Given the description of an element on the screen output the (x, y) to click on. 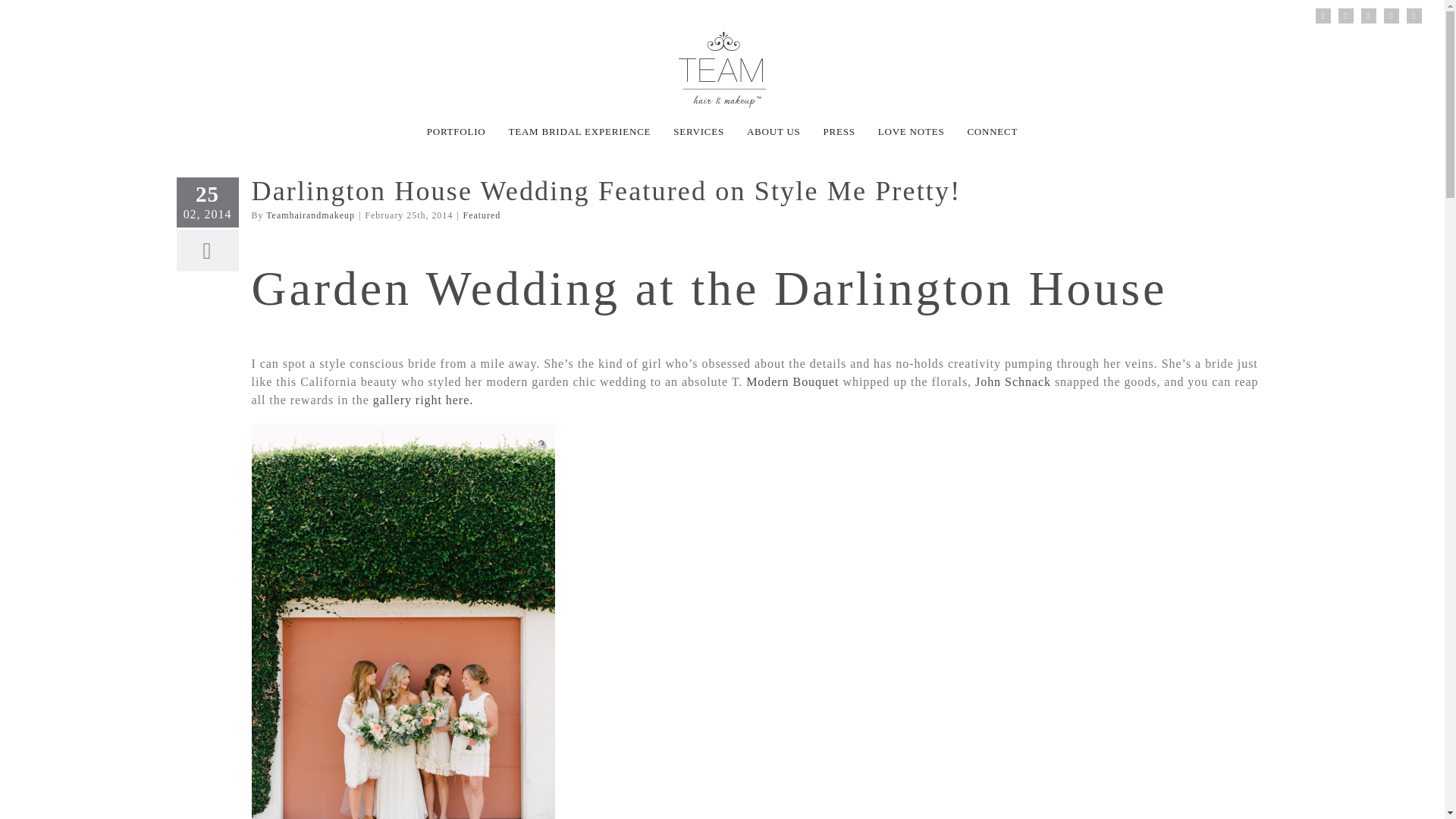
Facebook (1346, 15)
CONNECT (991, 131)
Modern Bouquet (791, 381)
PRESS (840, 131)
John Schnack (1013, 381)
Darlington House Wedding Featured on Style Me Pretty! (605, 191)
Posts by Teamhairandmakeup (310, 214)
Twitter (1391, 15)
SERVICES (697, 131)
TEAM BRIDAL EXPERIENCE (579, 131)
